Given the description of an element on the screen output the (x, y) to click on. 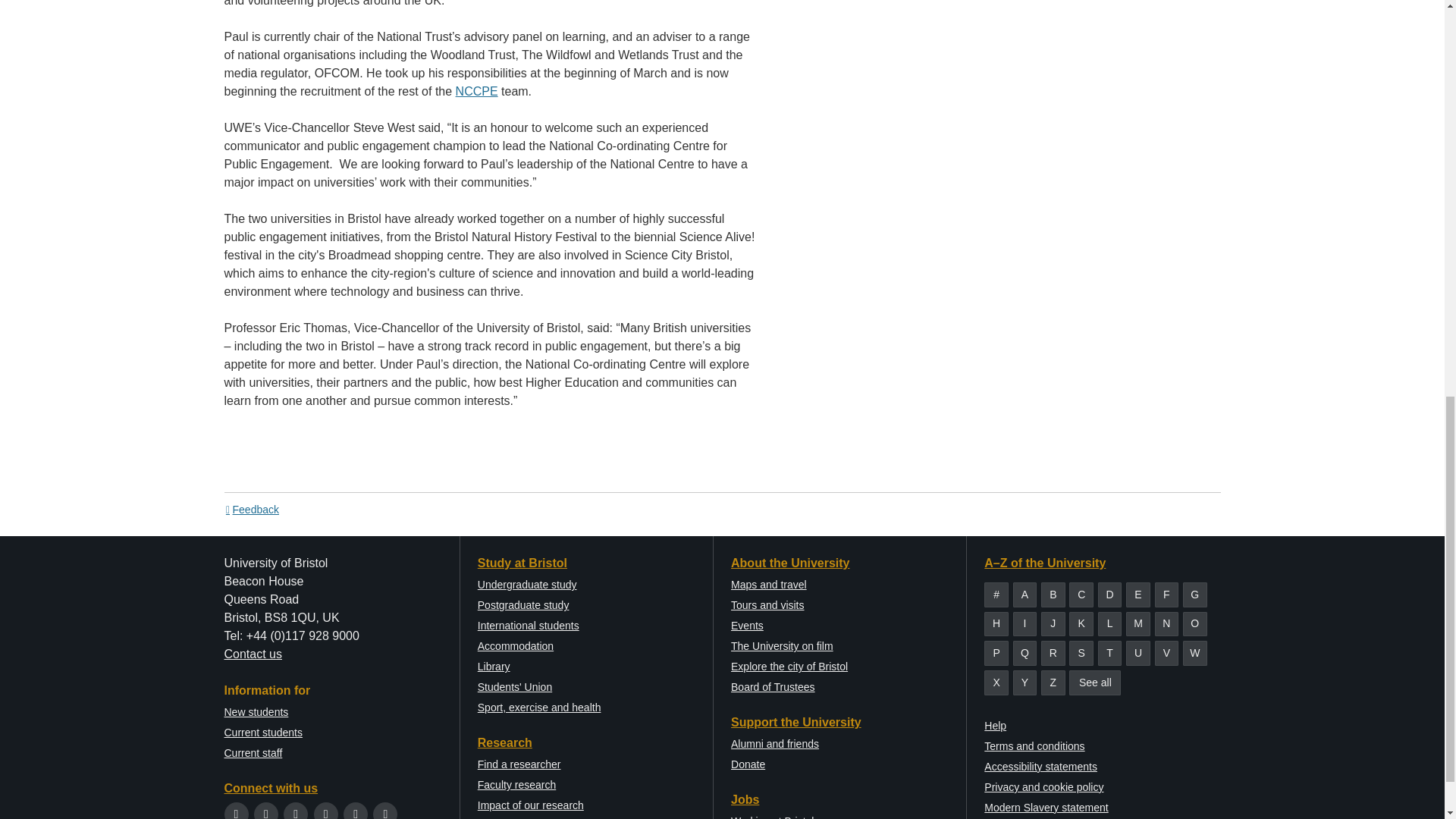
Instagram (295, 813)
Feedback (252, 509)
NCCPE (476, 91)
LinkedIn (355, 813)
Facebook (265, 813)
Flickr (384, 813)
YouTube (325, 813)
New students (256, 711)
Twitter (236, 813)
Current students (263, 732)
